Given the description of an element on the screen output the (x, y) to click on. 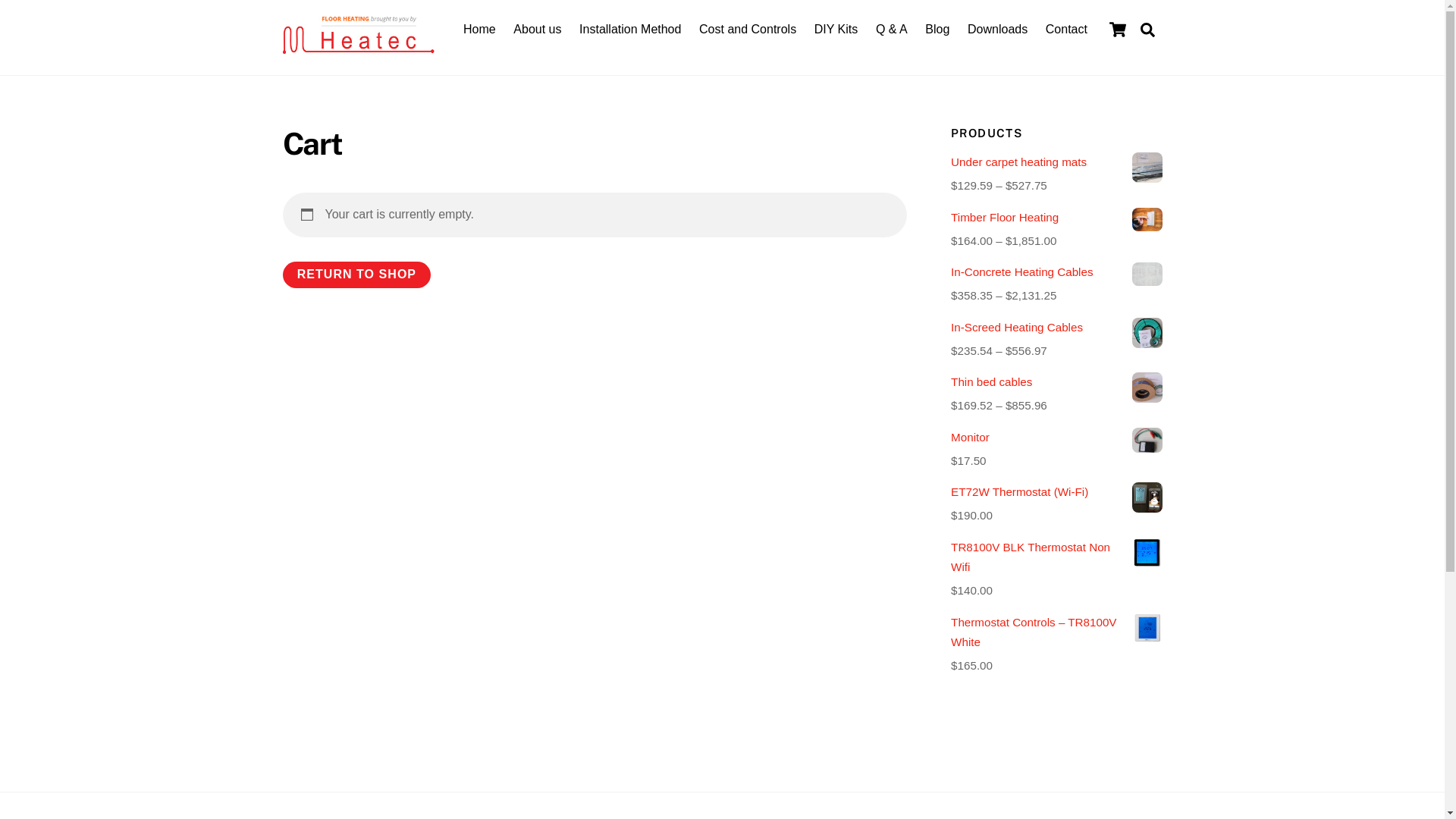
Contact Element type: text (1066, 29)
Cost and Controls Element type: text (747, 29)
DIY Kits Element type: text (835, 29)
logo Element type: hover (357, 34)
Timber Floor Heating Element type: text (1055, 217)
In-Concrete Heating Cables Element type: text (1055, 272)
Search Element type: text (1147, 29)
Thin bed cables Element type: text (1055, 382)
Floor Heating Element type: hover (357, 46)
About us Element type: text (537, 29)
ET72W Thermostat (Wi-Fi) Element type: text (1055, 492)
Home Element type: text (478, 29)
In-Screed Heating Cables Element type: text (1055, 327)
Under carpet heating mats Element type: text (1055, 162)
Cart Element type: text (1117, 29)
Downloads Element type: text (997, 29)
TR8100V BLK Thermostat Non Wifi Element type: text (1055, 557)
Monitor Element type: text (1055, 437)
Installation Method Element type: text (630, 29)
Q & A Element type: text (891, 29)
Blog Element type: text (937, 29)
RETURN TO SHOP Element type: text (356, 274)
